Given the description of an element on the screen output the (x, y) to click on. 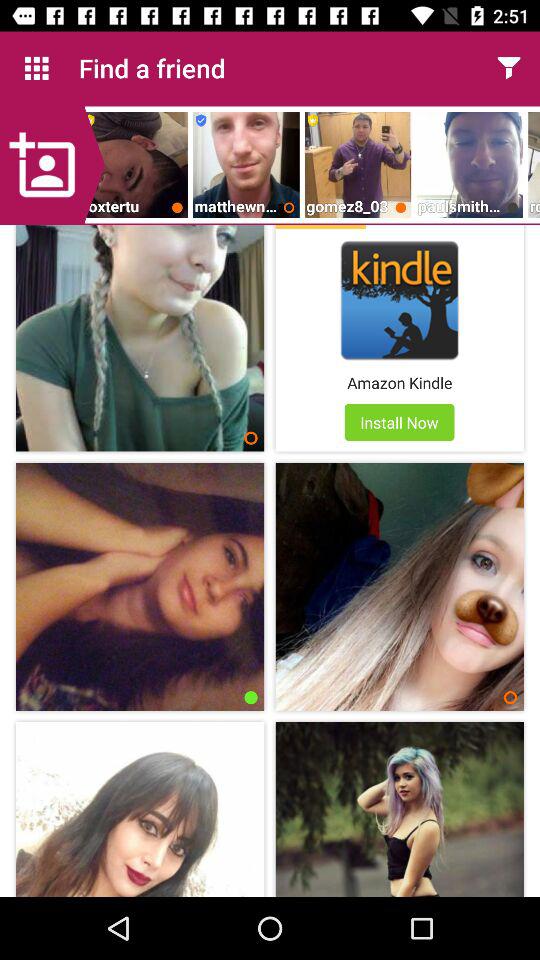
filter (508, 67)
